Given the description of an element on the screen output the (x, y) to click on. 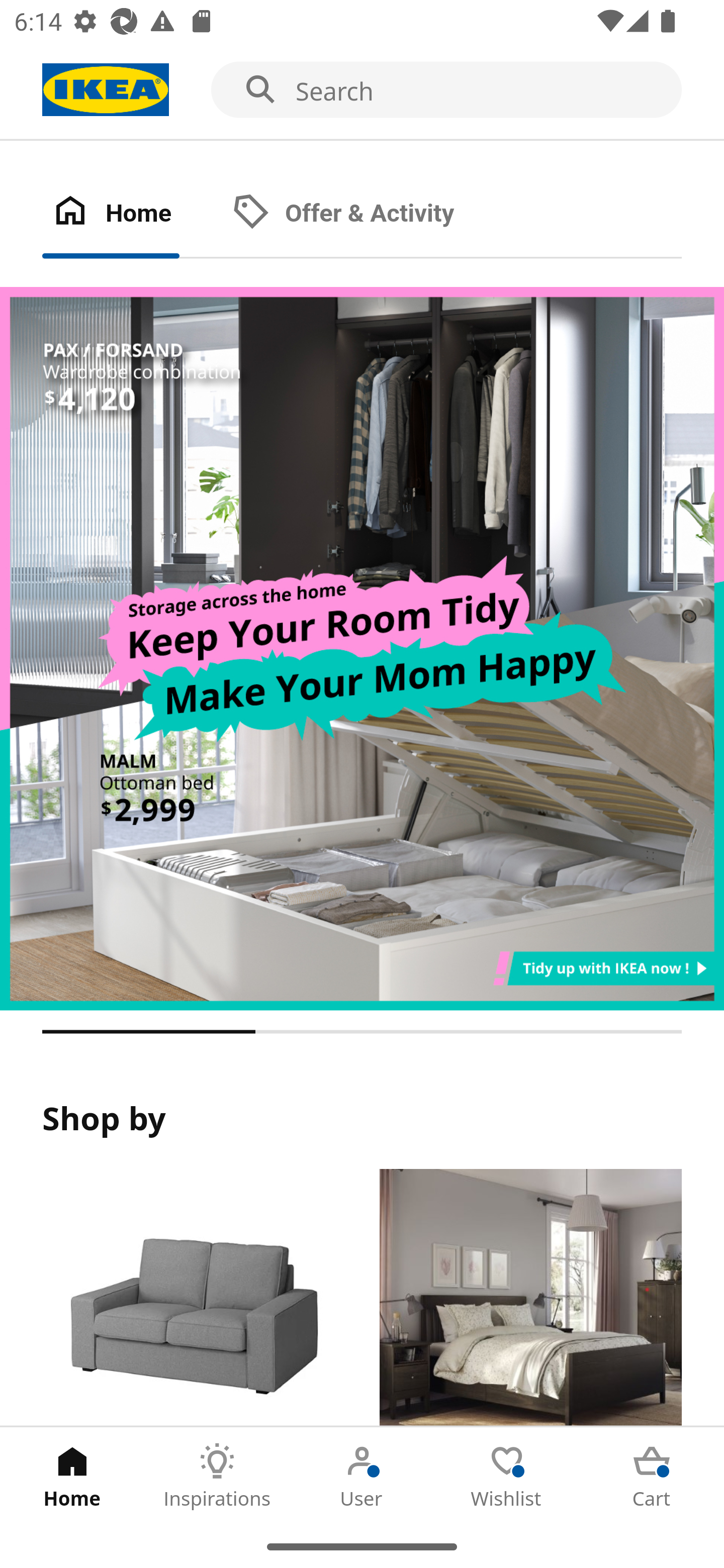
Search (361, 90)
Home
Tab 1 of 2 (131, 213)
Offer & Activity
Tab 2 of 2 (363, 213)
Products (192, 1297)
Rooms (530, 1297)
Home
Tab 1 of 5 (72, 1476)
Inspirations
Tab 2 of 5 (216, 1476)
User
Tab 3 of 5 (361, 1476)
Wishlist
Tab 4 of 5 (506, 1476)
Cart
Tab 5 of 5 (651, 1476)
